Given the description of an element on the screen output the (x, y) to click on. 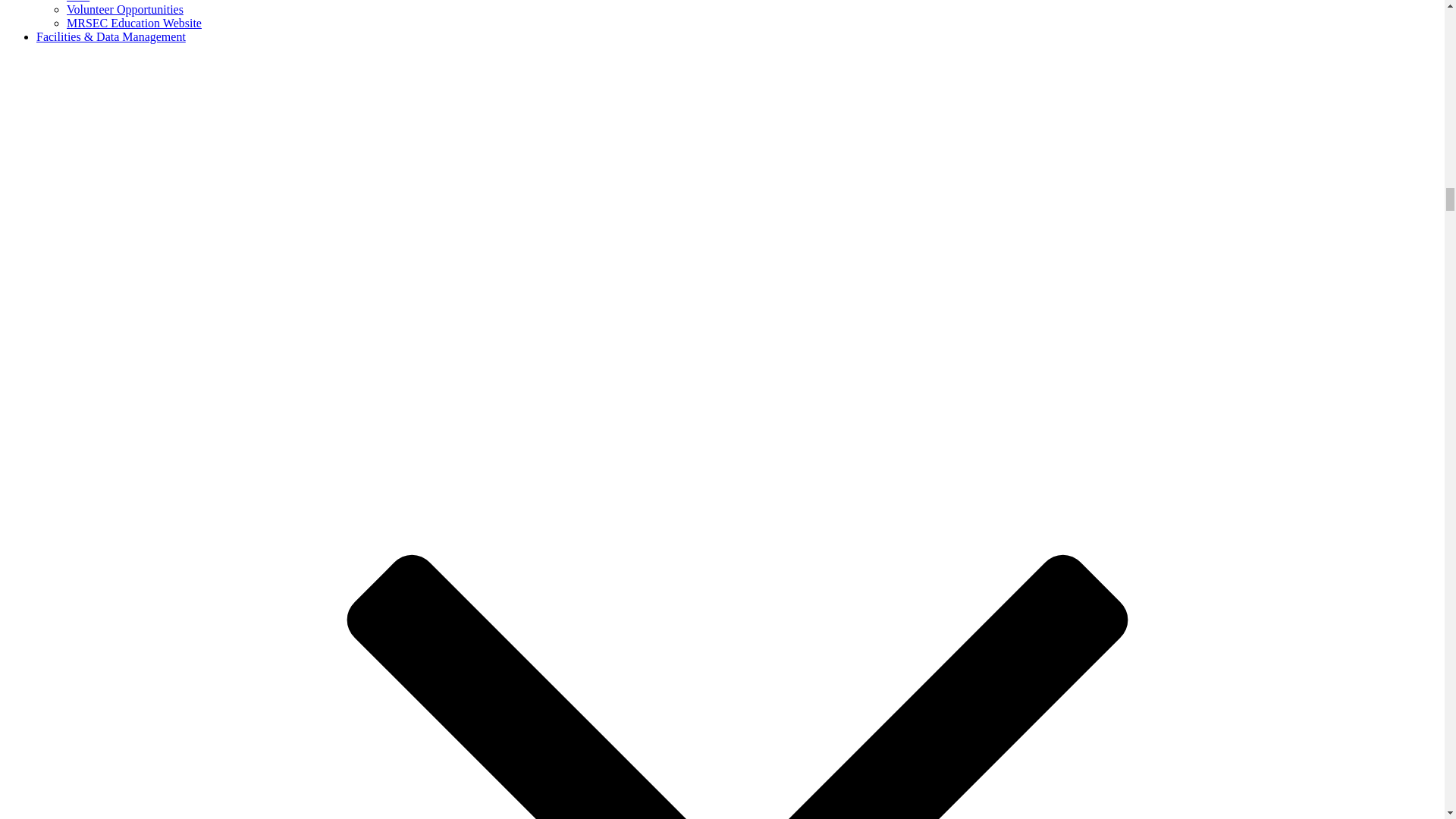
RET (77, 1)
Volunteer Opportunities (124, 9)
MRSEC Education Website (134, 22)
